Given the description of an element on the screen output the (x, y) to click on. 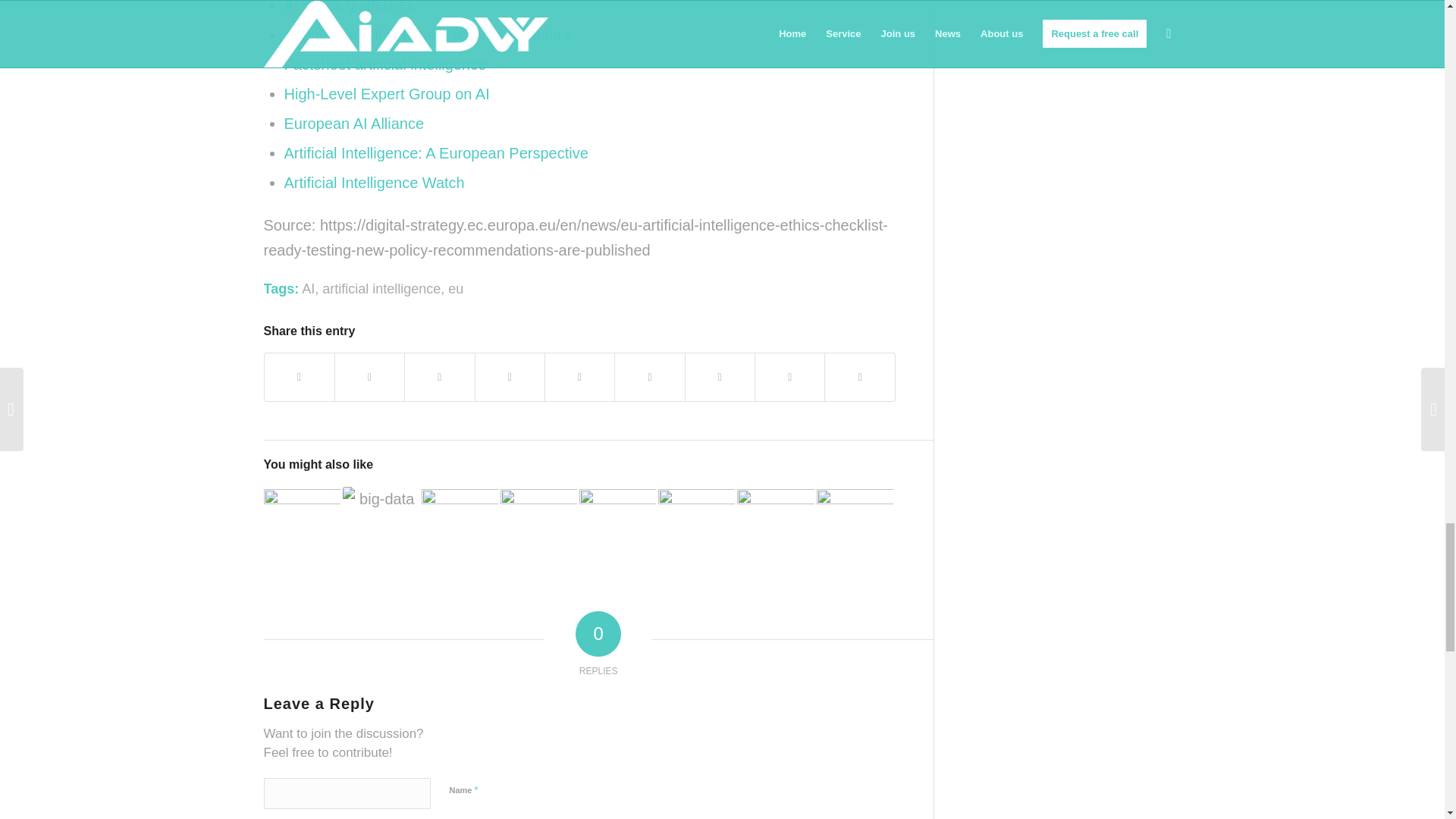
High-Level Expert Group on AI (386, 93)
AI ethics guidelines (348, 6)
eu (455, 288)
Artificial Intelligence Watch  (375, 182)
Artificial Intelligence: A European Perspective (435, 152)
European AI Alliance (353, 123)
artificial intelligence (381, 288)
AI policy and investment recommendations (427, 34)
Factsheet artificial intelligence (384, 64)
